Given the description of an element on the screen output the (x, y) to click on. 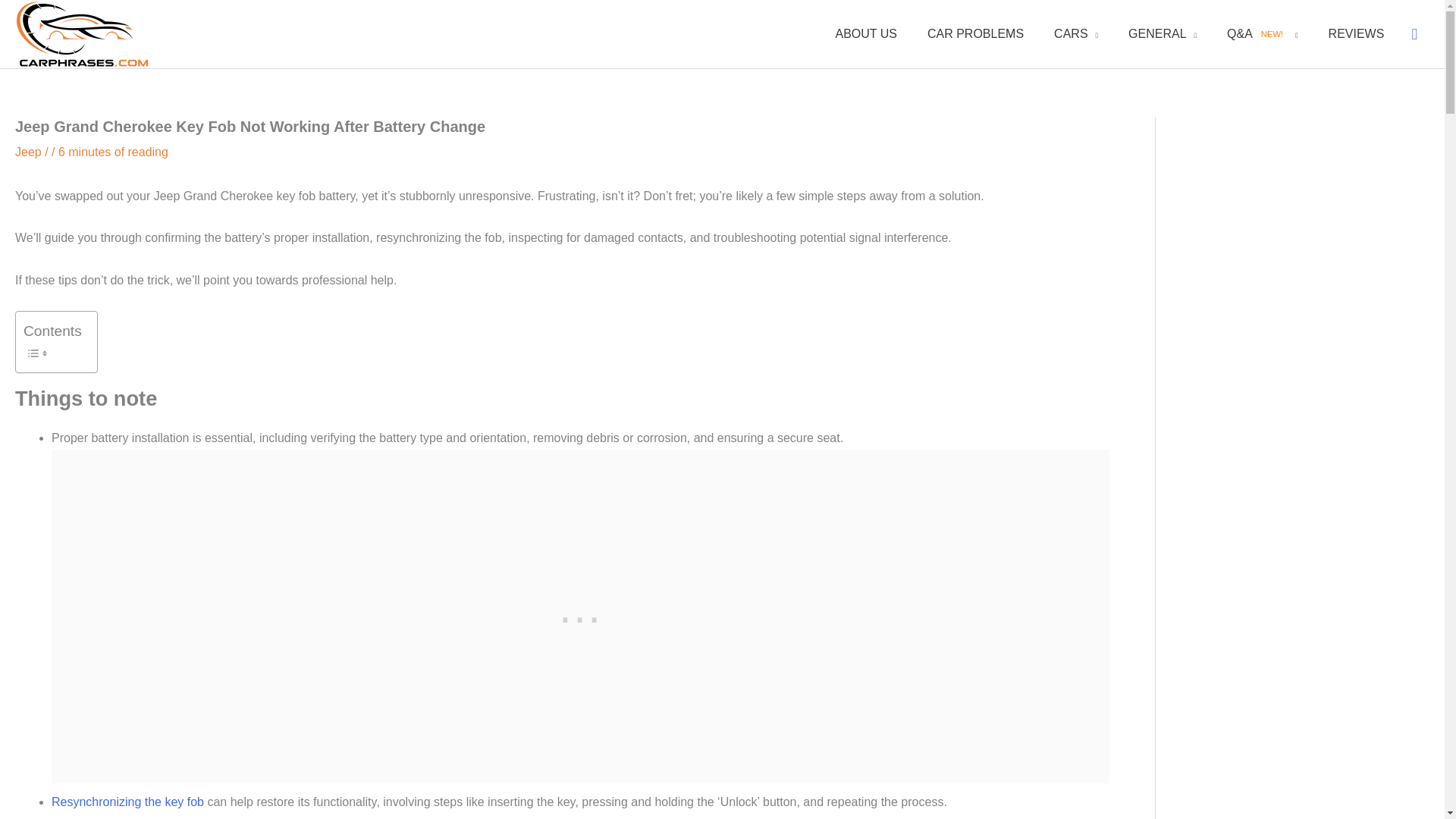
CAR PROBLEMS (975, 33)
CARS (1076, 33)
Resynchronizing the key fob (126, 801)
REVIEWS (1356, 33)
GENERAL (1162, 33)
Jeep (28, 151)
ABOUT US (865, 33)
